Given the description of an element on the screen output the (x, y) to click on. 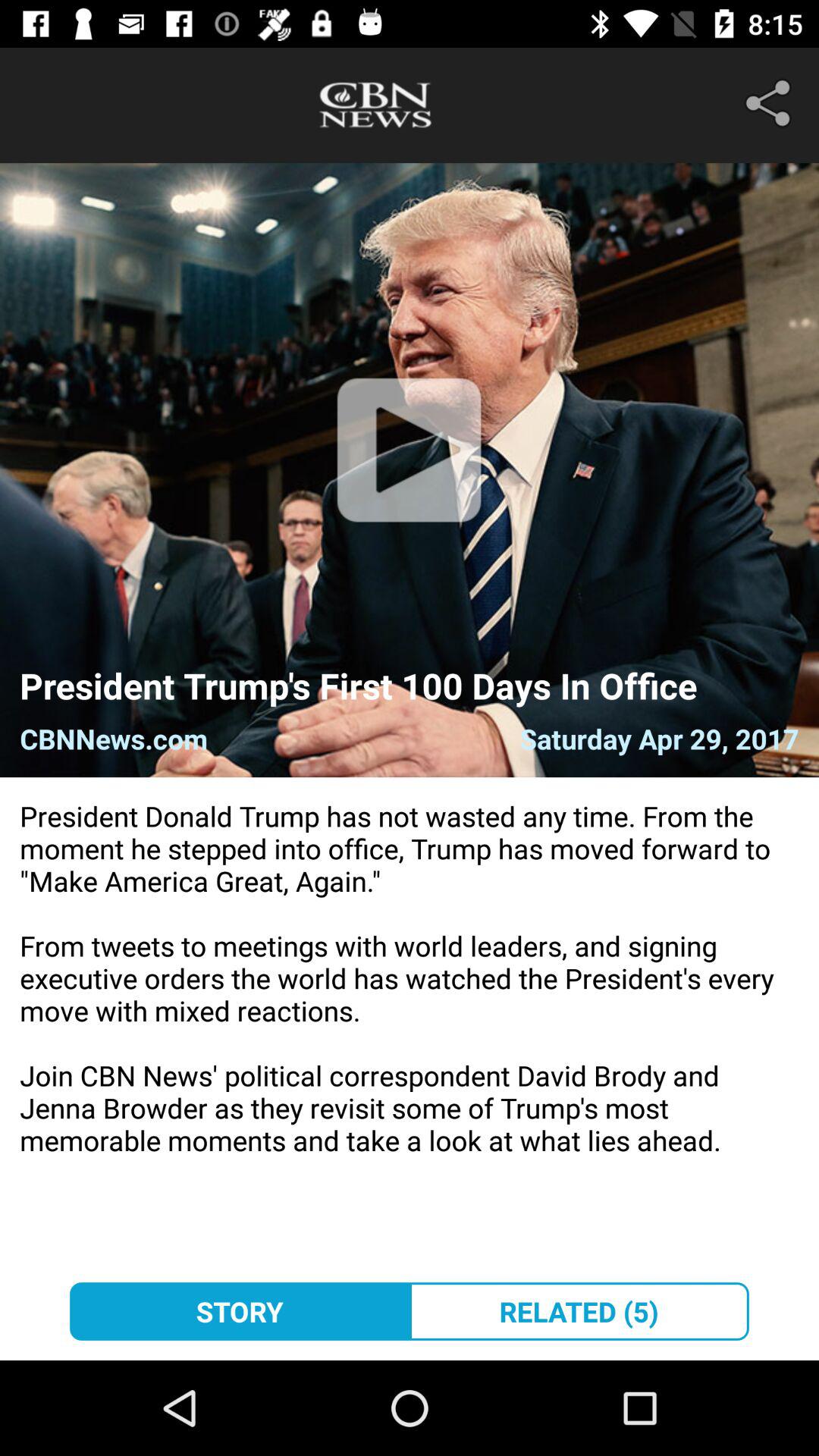
turn off the item at the bottom right corner (579, 1311)
